Given the description of an element on the screen output the (x, y) to click on. 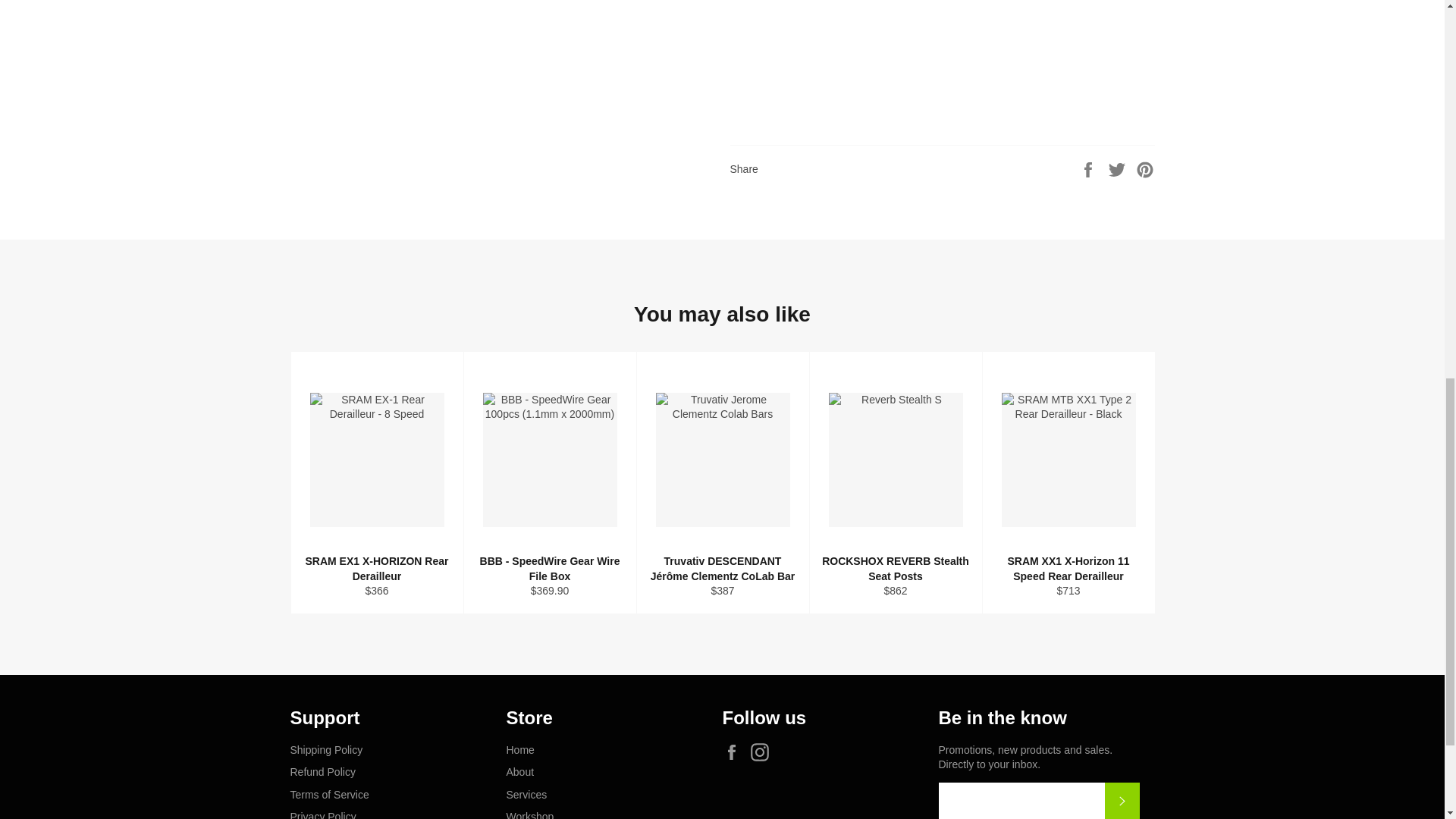
Pin on Pinterest (1144, 168)
Hub Cycles on Facebook (735, 751)
Tweet on Twitter (1118, 168)
Share on Facebook (1089, 168)
Hub Cycles on Instagram (763, 751)
